Given the description of an element on the screen output the (x, y) to click on. 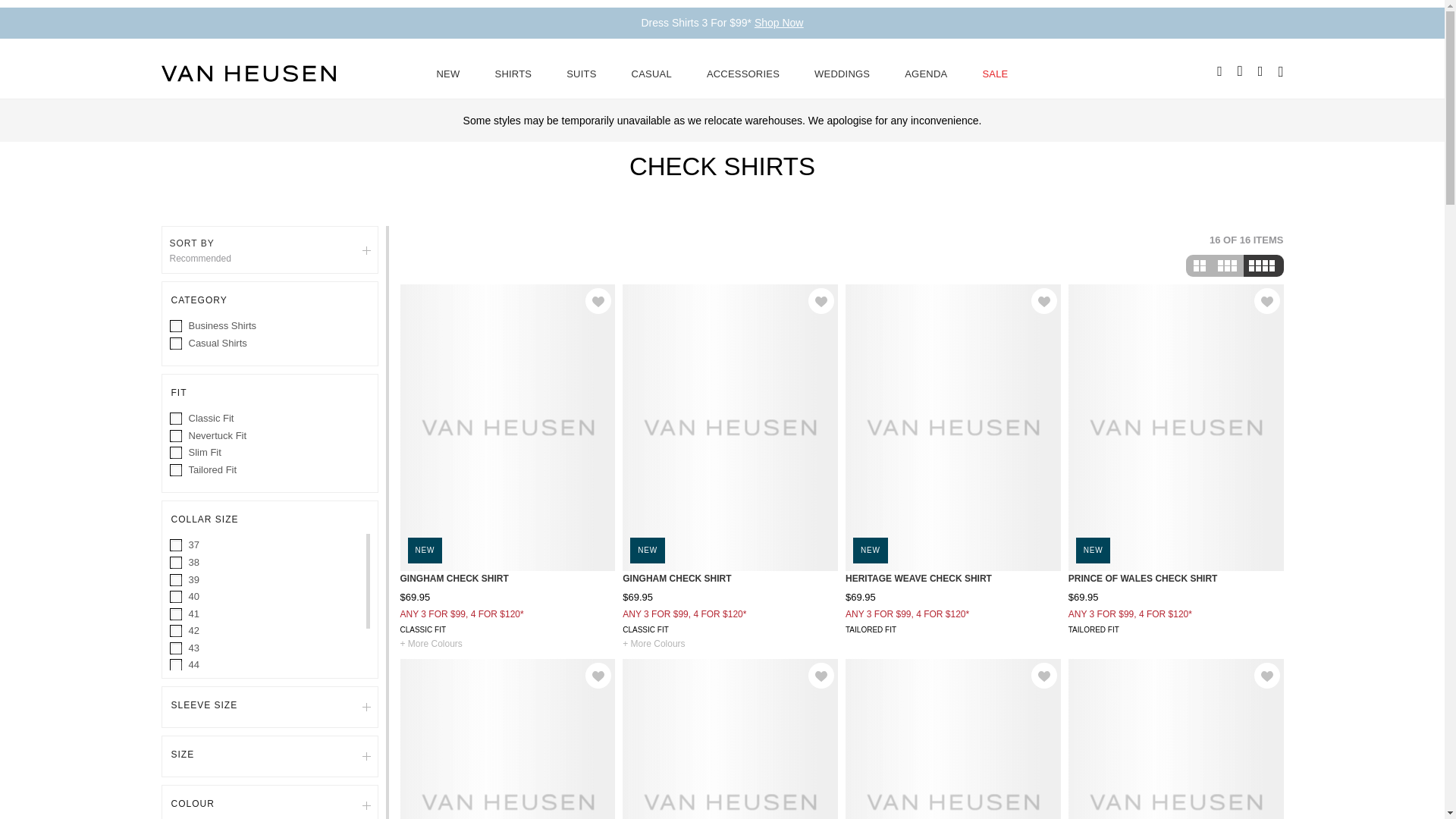
on (176, 470)
NEW (448, 73)
position (179, 270)
SHIRTS (513, 73)
on (176, 344)
on (176, 614)
Shop Now (778, 22)
SUITS (580, 73)
on (176, 683)
on (176, 452)
on (176, 436)
on (176, 648)
CASUAL (651, 73)
on (176, 326)
on (176, 419)
